Given the description of an element on the screen output the (x, y) to click on. 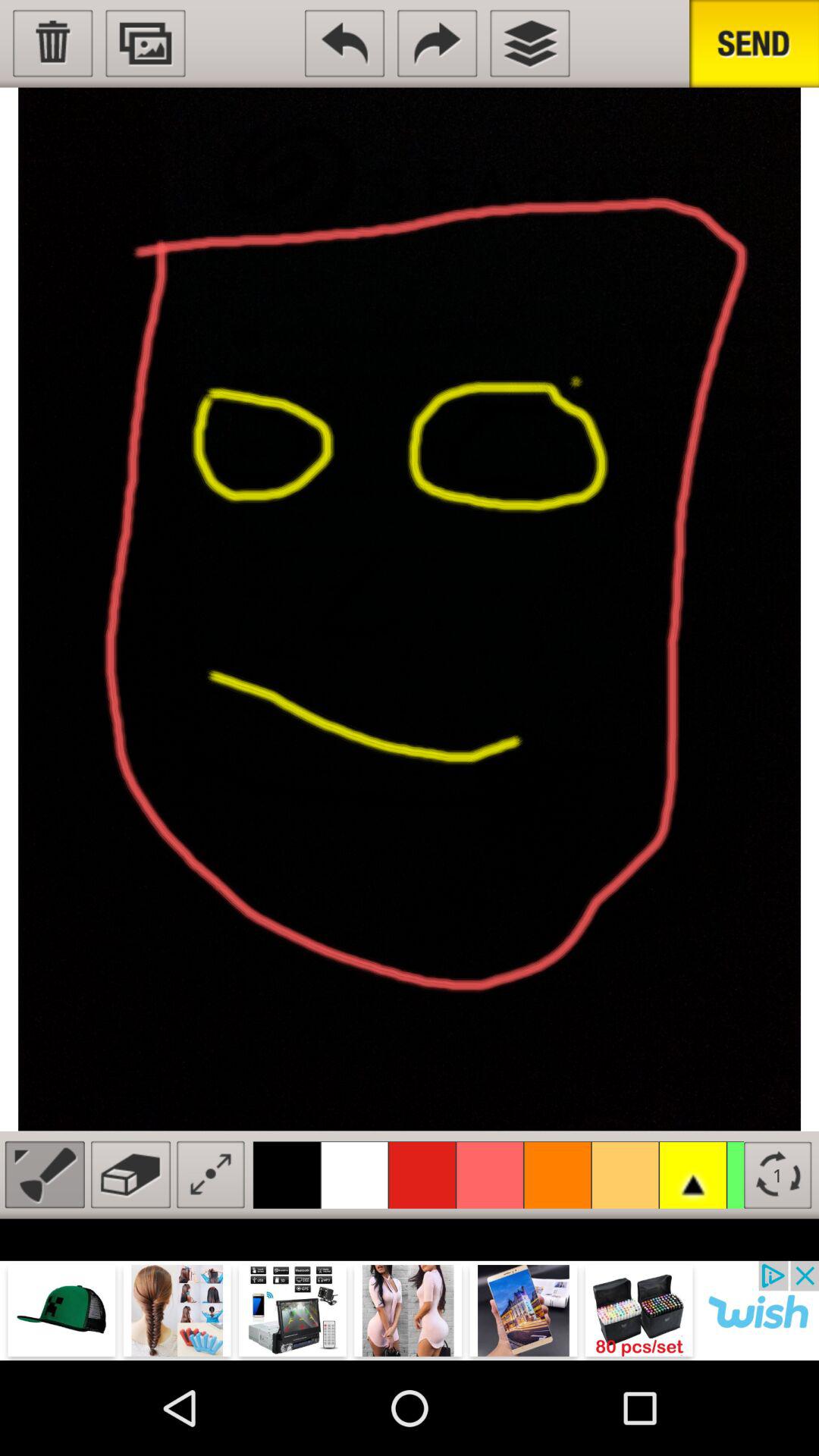
send image (145, 43)
